Given the description of an element on the screen output the (x, y) to click on. 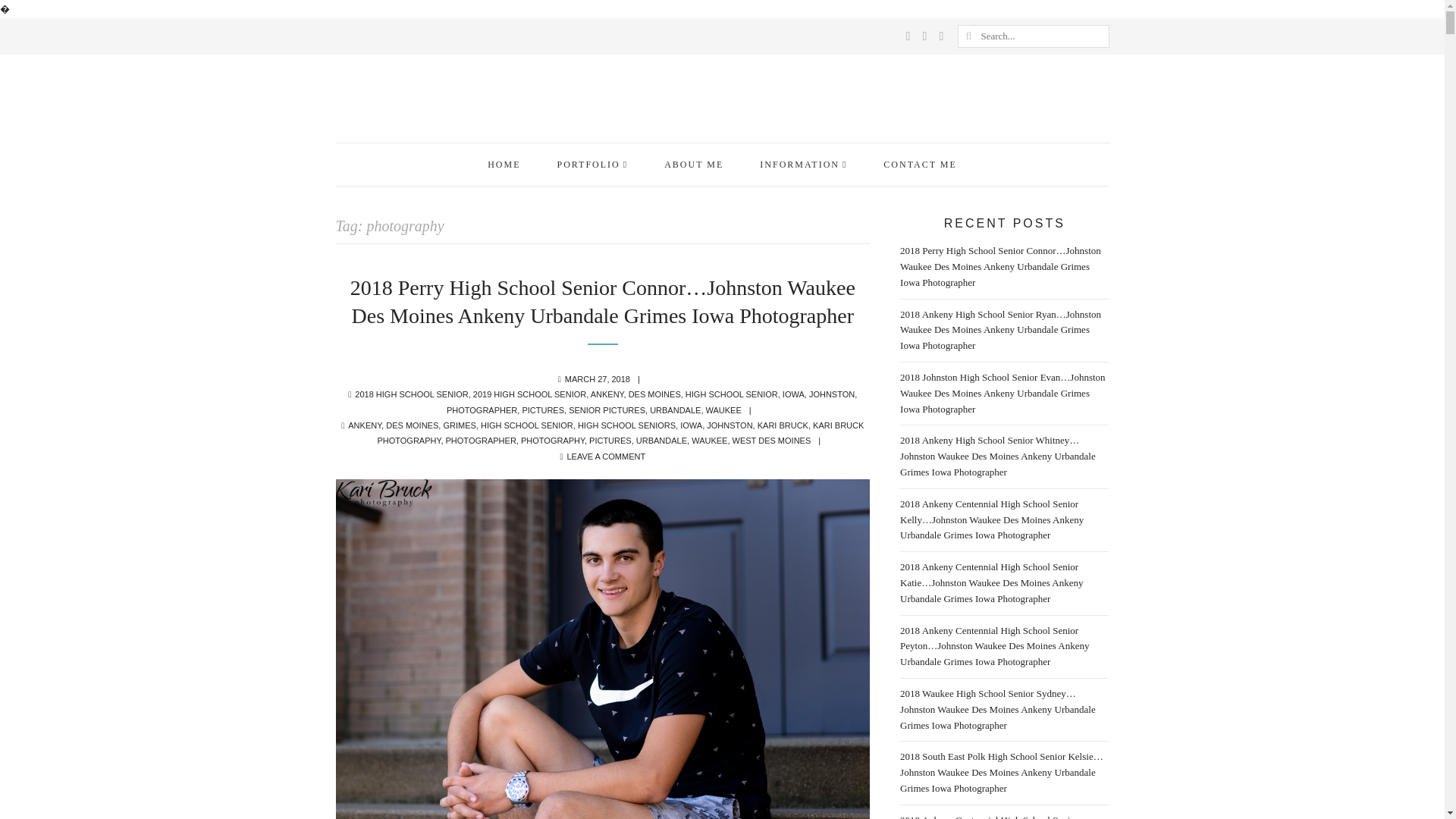
PORTFOLIO (592, 164)
ABOUT ME (693, 164)
HOME (503, 164)
INFORMATION (802, 164)
ANKENY (607, 393)
2019 HIGH SCHOOL SENIOR (529, 393)
Go (967, 36)
PHOTOGRAPHER (481, 409)
IOWA (794, 393)
DES MOINES (654, 393)
